Given the description of an element on the screen output the (x, y) to click on. 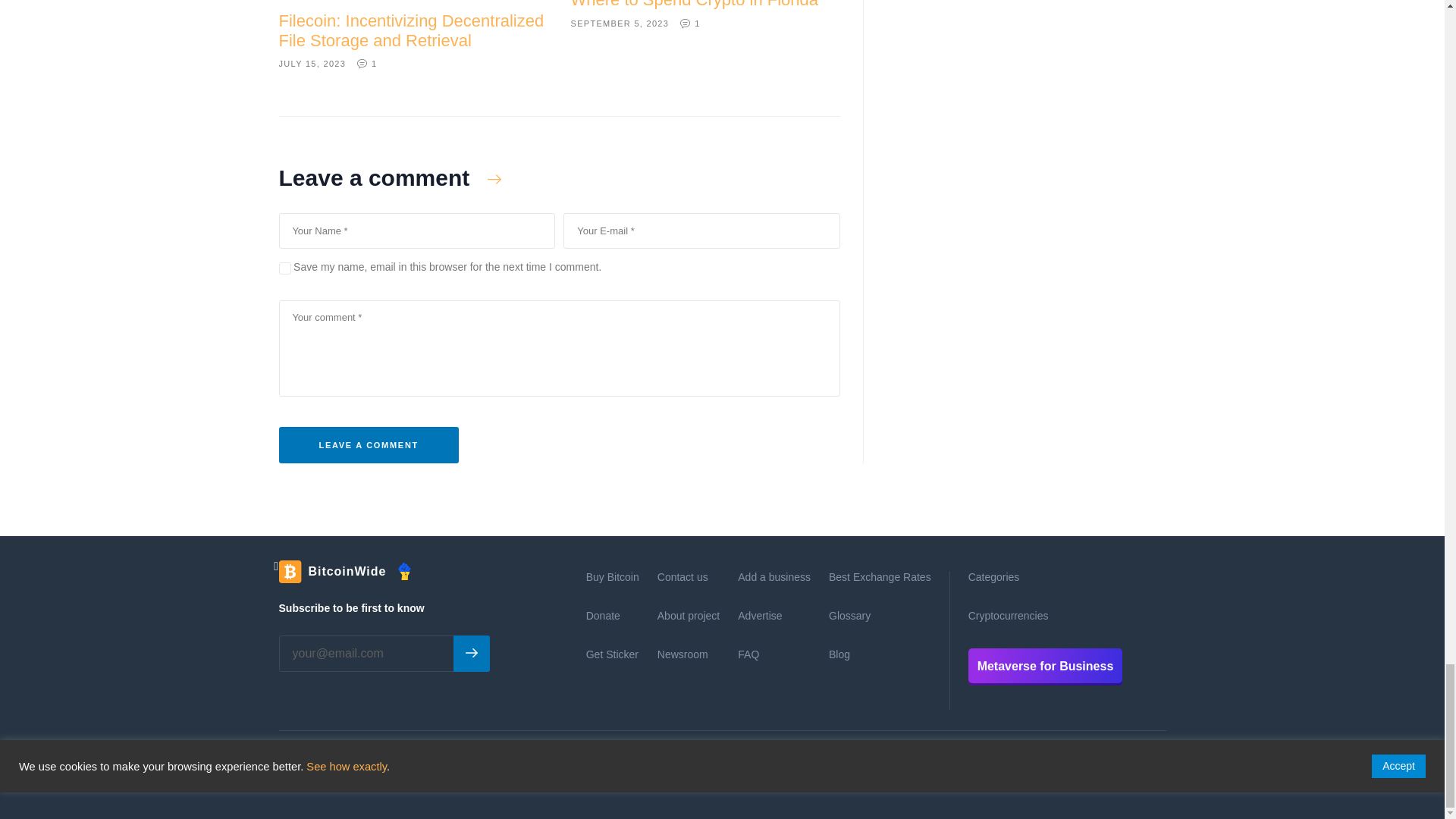
Leave a comment (368, 444)
